Given the description of an element on the screen output the (x, y) to click on. 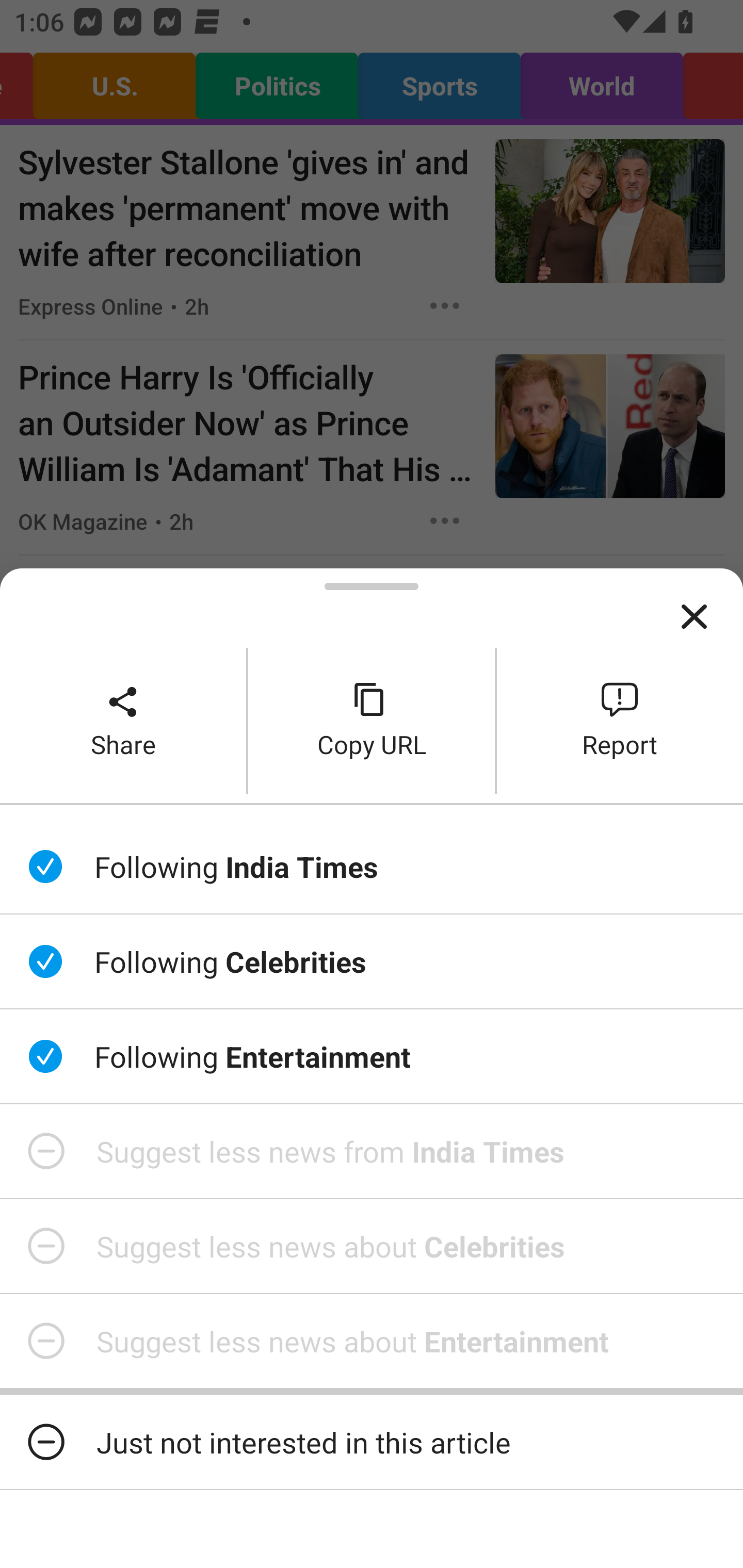
Close (694, 616)
Share (122, 720)
Copy URL (371, 720)
Report (620, 720)
Following India Times (371, 867)
Following Celebrities (371, 961)
Following Entertainment (371, 1056)
Suggest less news from India Times (371, 1150)
Suggest less news about Celebrities (371, 1246)
Suggest less news about Entertainment (371, 1340)
Just not interested in this article (371, 1442)
